Given the description of an element on the screen output the (x, y) to click on. 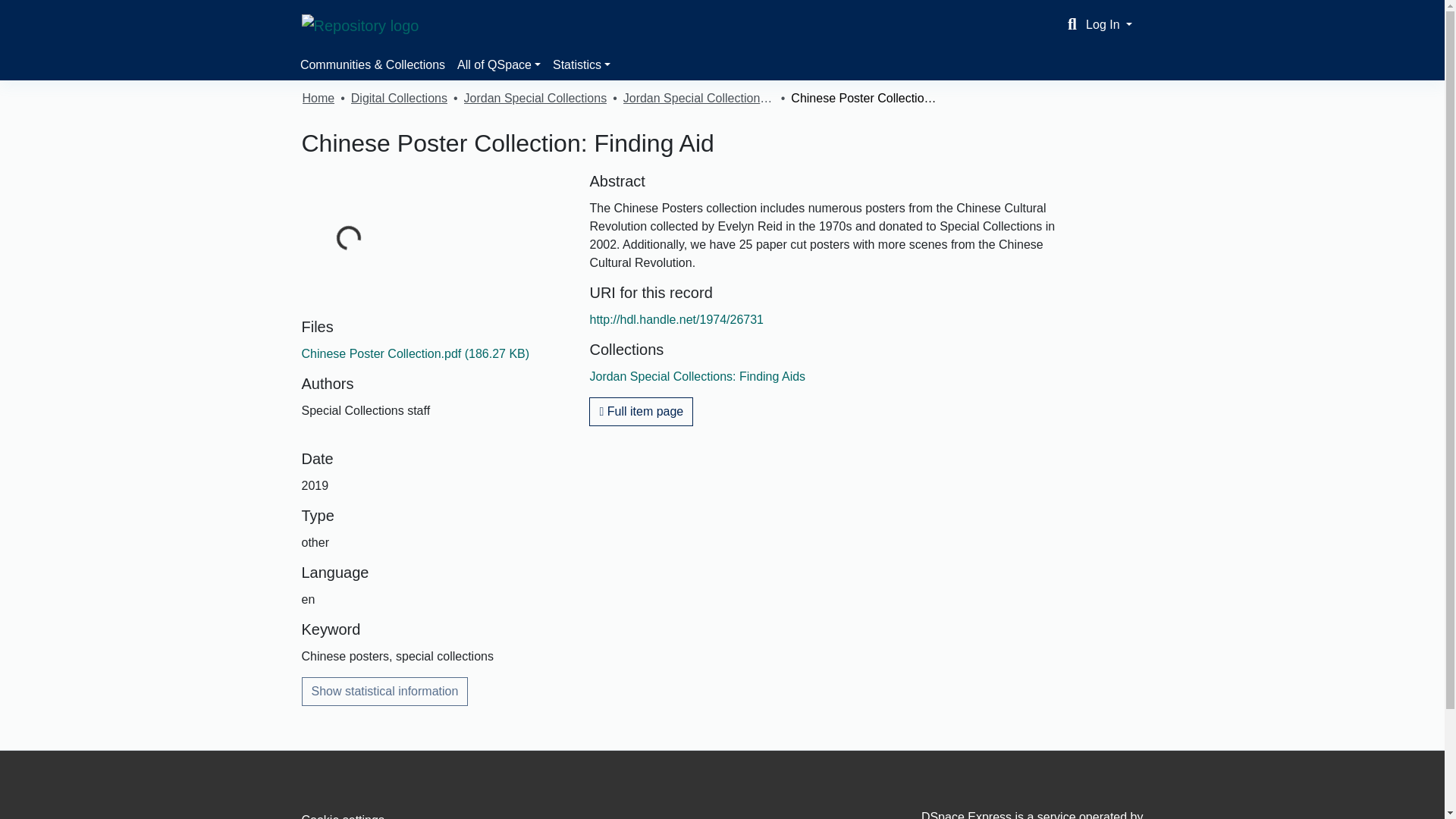
Cookie settings (342, 816)
Jordan Special Collections (535, 98)
Statistics (581, 64)
DSpace Express is a service operated by (1009, 814)
Jordan Special Collections: Finding Aids (698, 98)
Log In (1108, 24)
Home (317, 98)
Jordan Special Collections: Finding Aids (697, 376)
Digital Collections (398, 98)
All of QSpace (499, 64)
